Given the description of an element on the screen output the (x, y) to click on. 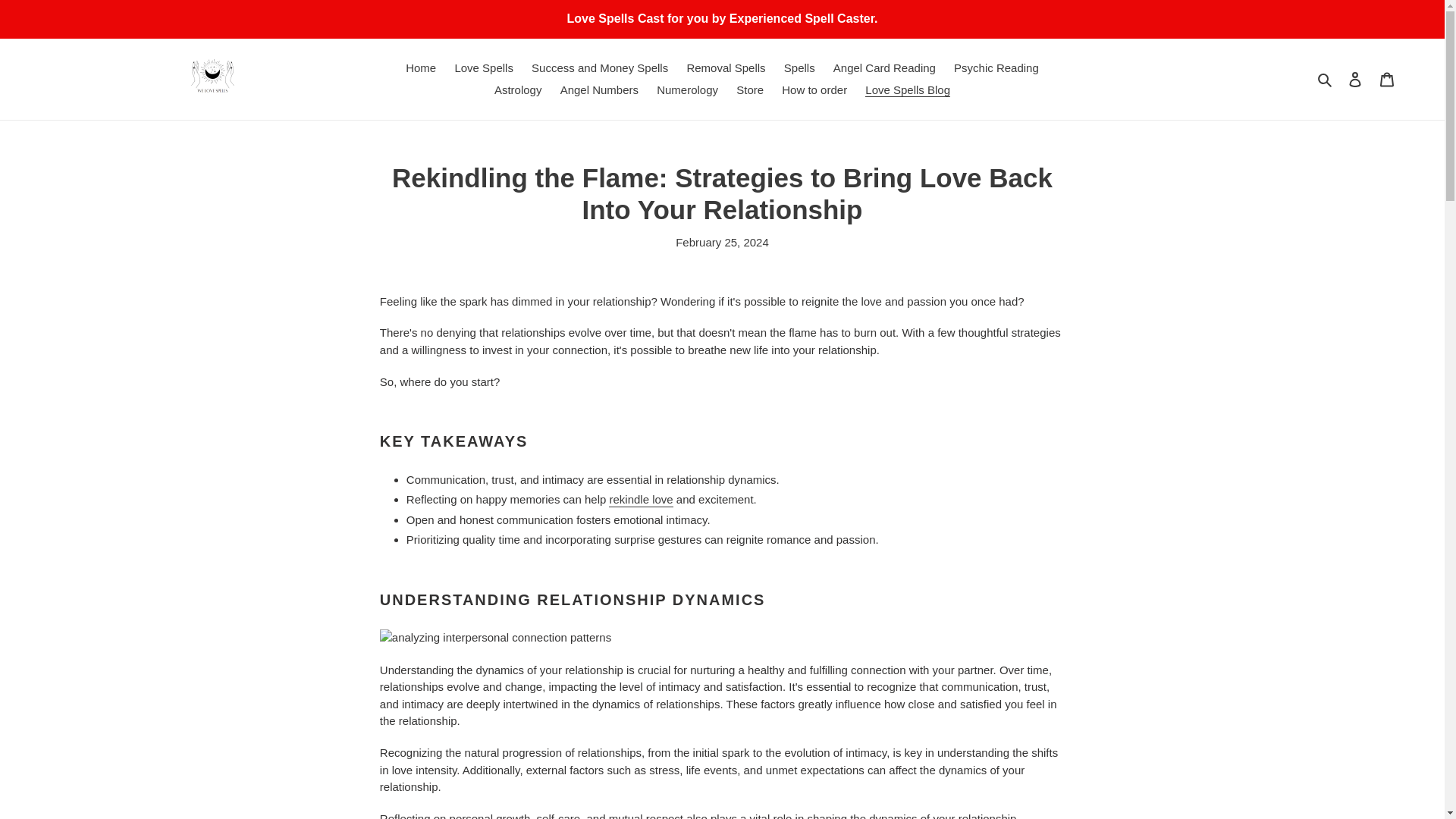
Success and Money Spells (599, 68)
rekindle love (640, 499)
How to order (814, 89)
Removal Spells (725, 68)
Love Spells (483, 68)
Love Spells Cast for you by Experienced Spell Caster. (721, 18)
rekindle love (640, 499)
Log in (1355, 79)
Numerology (687, 89)
Astrology (518, 89)
Angel Numbers (599, 89)
Home (420, 68)
Spells (799, 68)
Store (750, 89)
Cart (1387, 79)
